Given the description of an element on the screen output the (x, y) to click on. 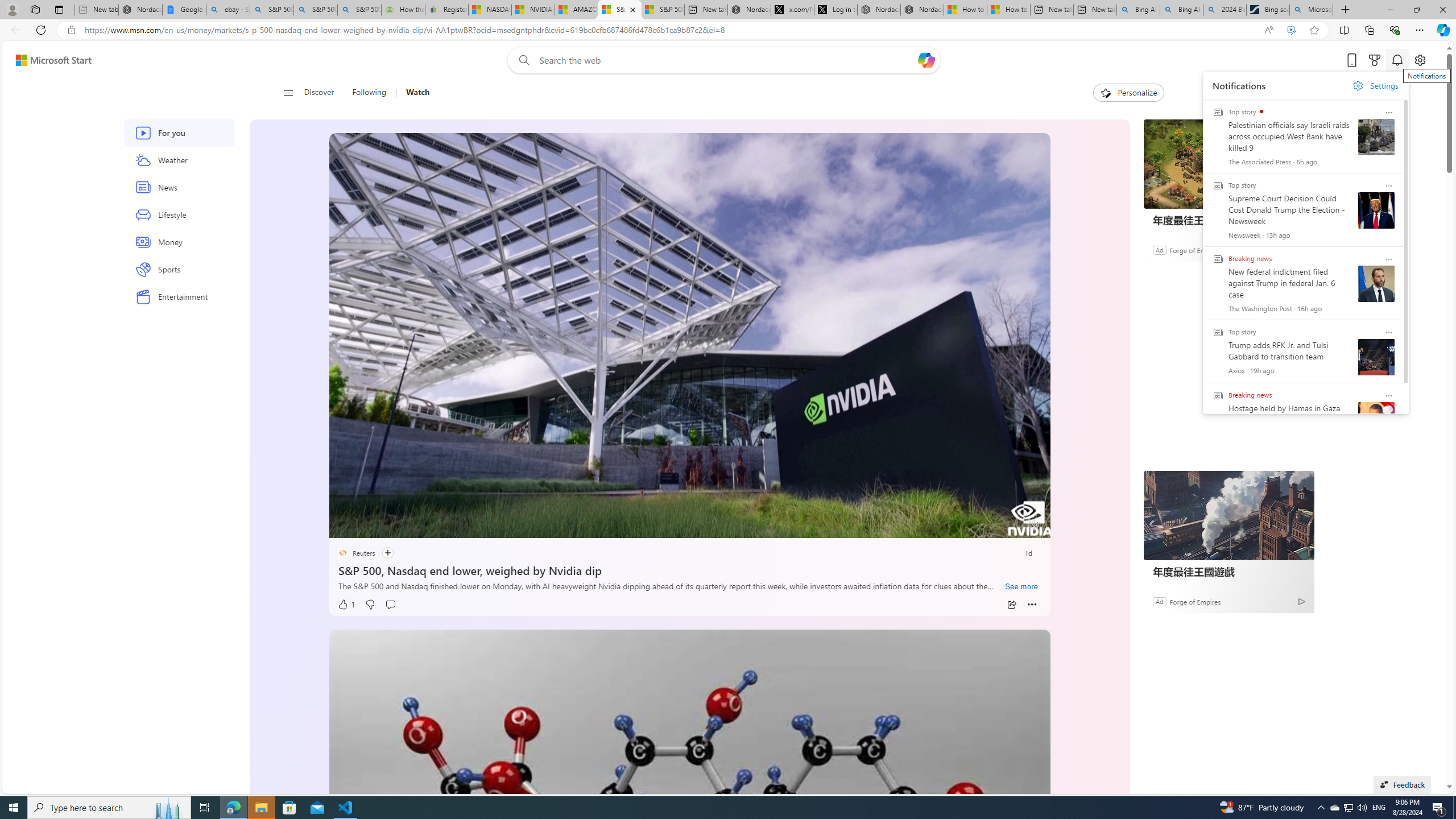
Google Docs: Online Document Editor | Google Workspace (184, 9)
Enter your search term (726, 59)
Bing search market share worldwide 2024 | Statista (1267, 9)
